Given the description of an element on the screen output the (x, y) to click on. 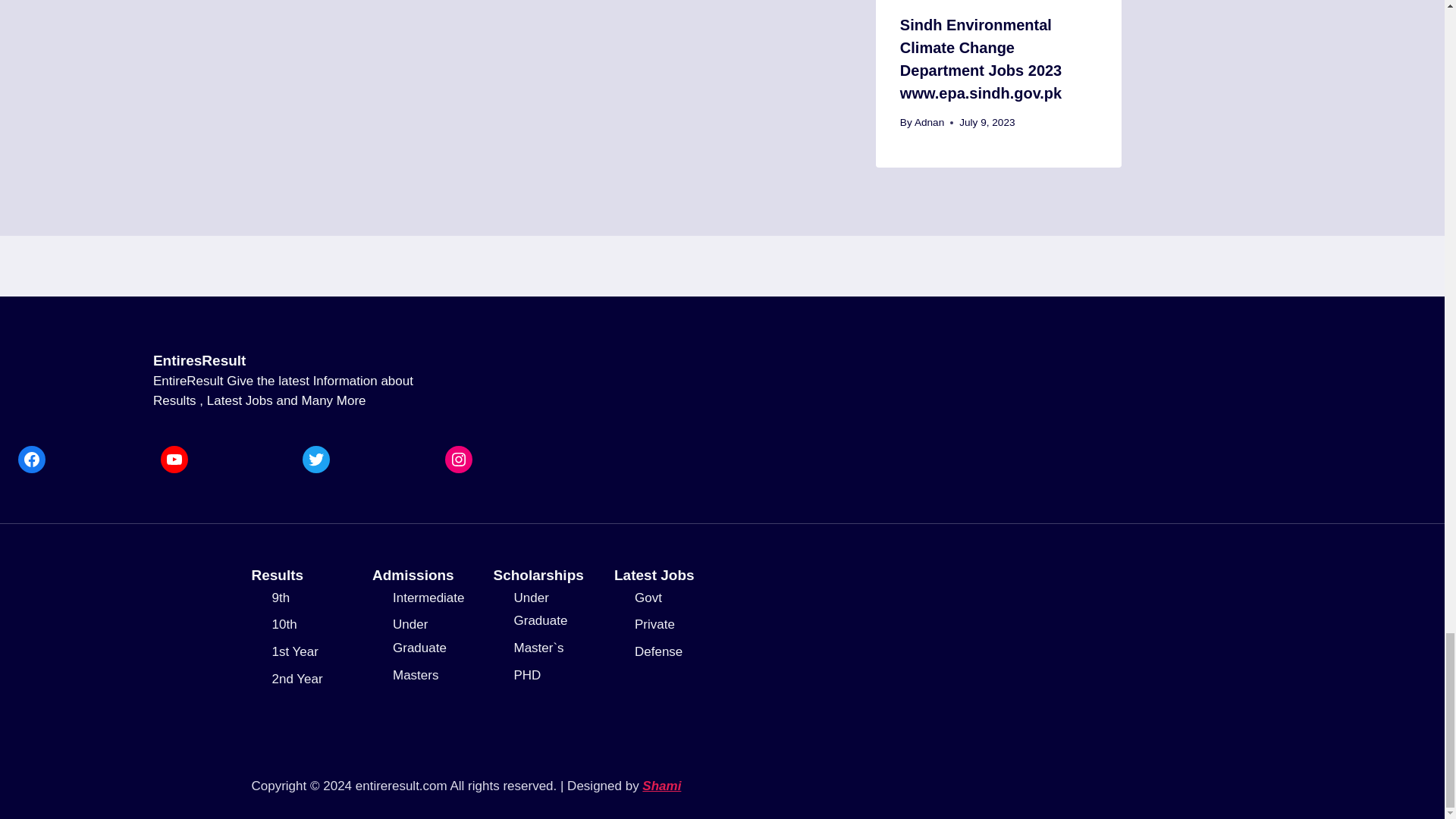
Twitter (316, 459)
Adnan (928, 122)
Facebook (31, 459)
Instagram (458, 459)
